Given the description of an element on the screen output the (x, y) to click on. 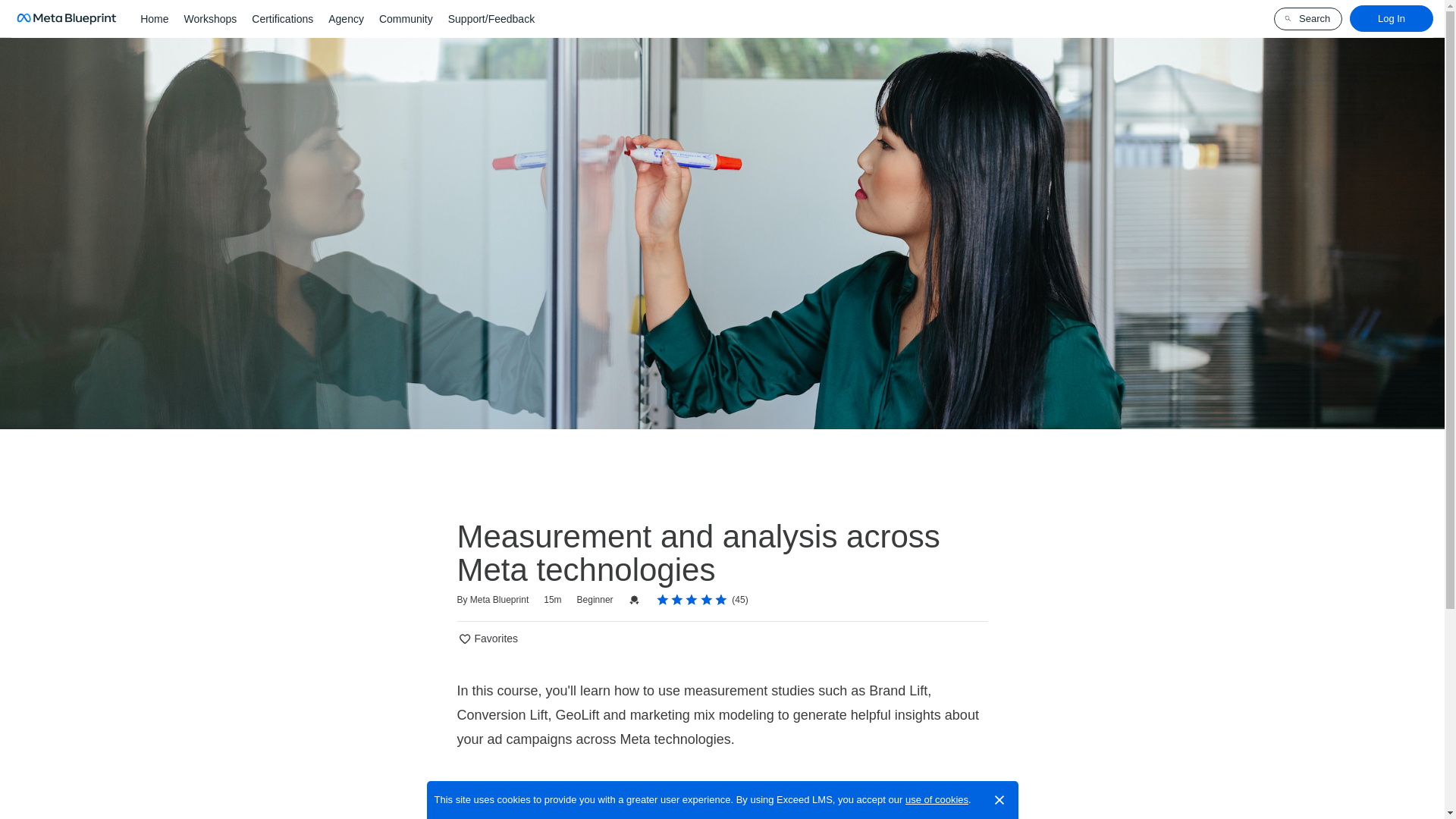
Search (1308, 18)
Submit (21, 7)
Workshops (210, 18)
Agency (345, 18)
Get Started (524, 800)
Favorites (487, 638)
